Given the description of an element on the screen output the (x, y) to click on. 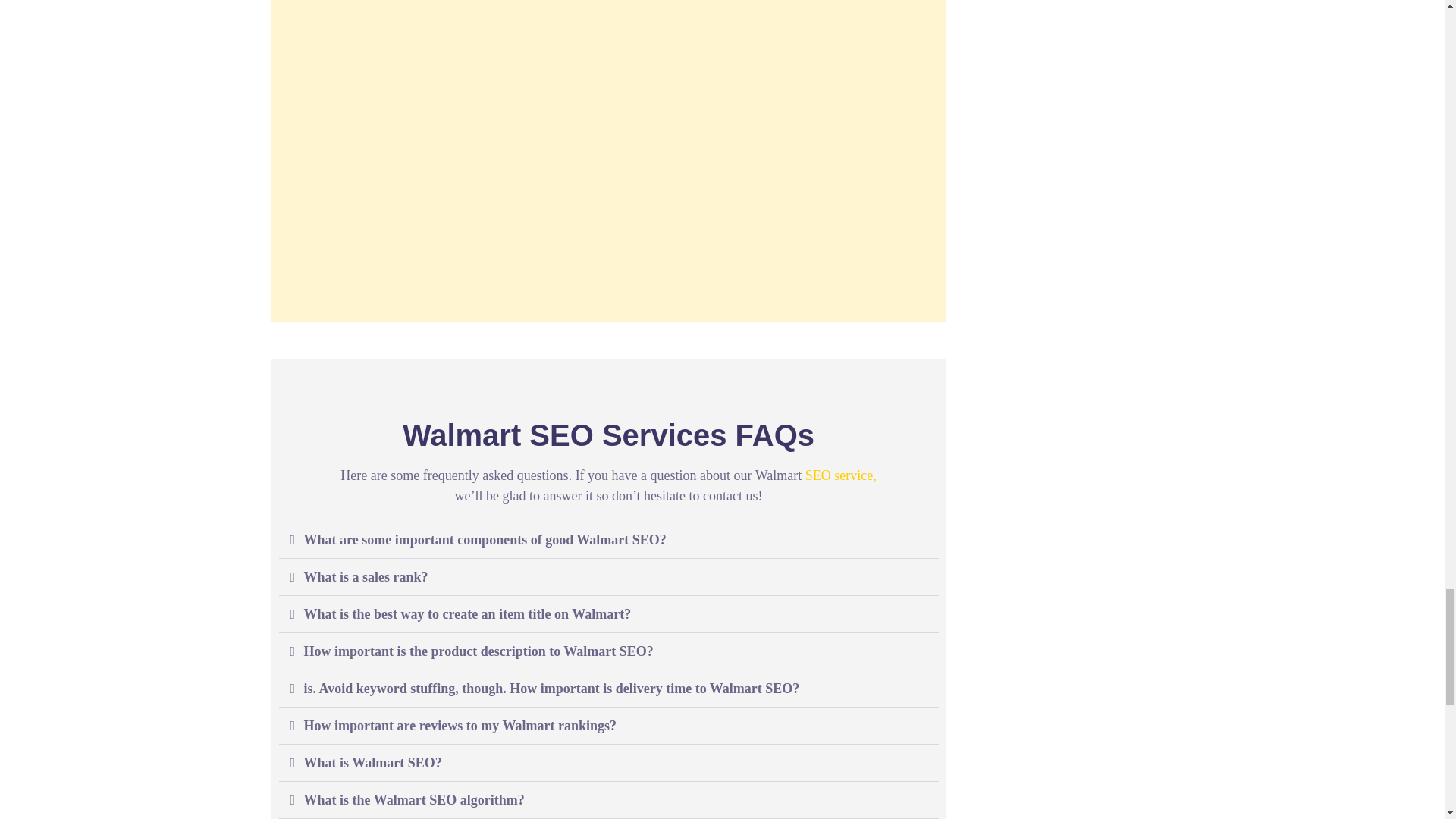
What is the Walmart SEO algorithm? (413, 799)
What is the best way to create an item title on Walmart? (466, 613)
What is Walmart SEO? (371, 762)
What are some important components of good Walmart SEO? (483, 539)
How important are reviews to my Walmart rankings? (458, 725)
How important is the product description to Walmart SEO? (477, 651)
SEO service (838, 475)
What is a sales rank? (365, 576)
